Given the description of an element on the screen output the (x, y) to click on. 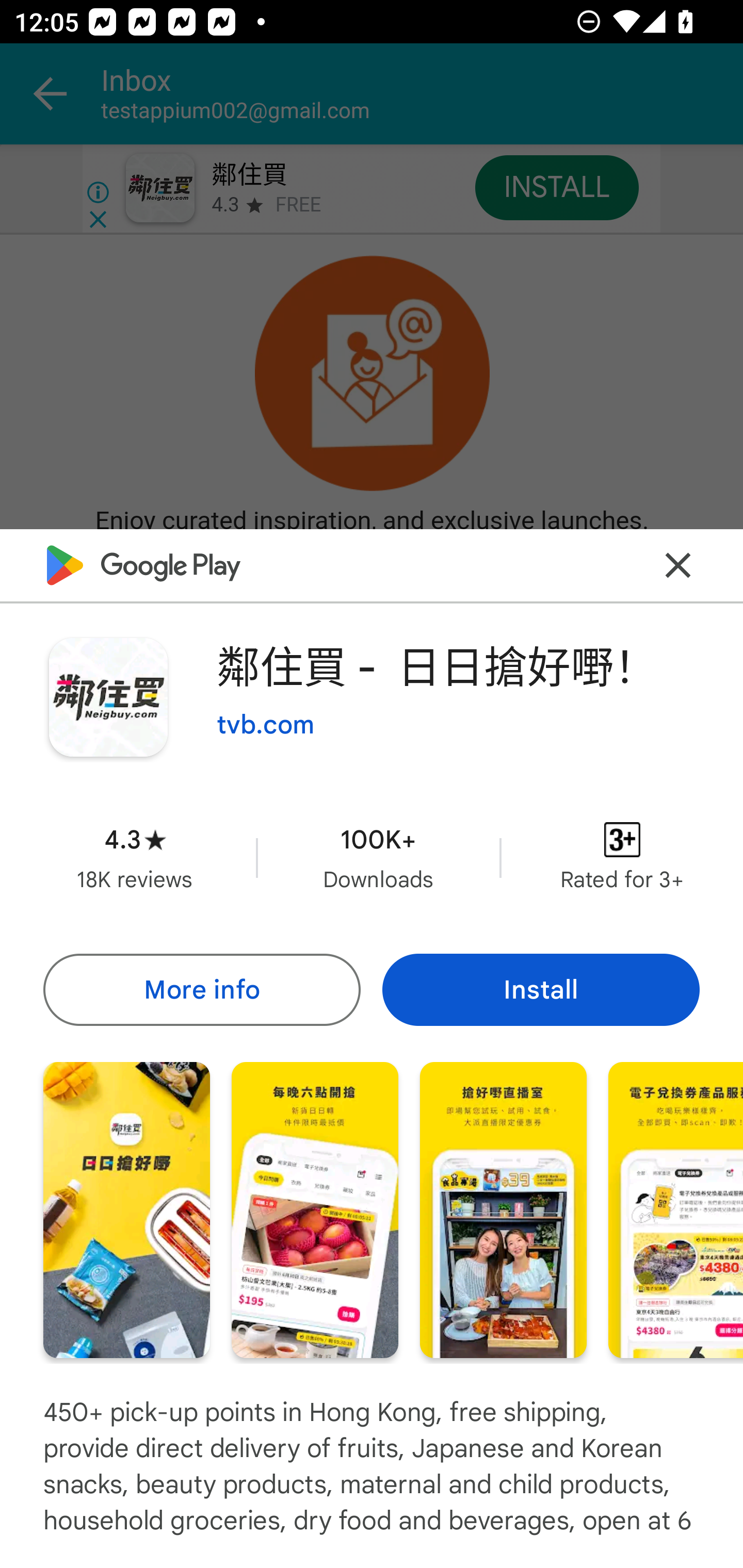
Close (677, 565)
Image of app or game icon for 鄰住買 -  日日搶好嘢！ (108, 696)
tvb.com (265, 724)
More info (201, 989)
Install (540, 989)
Screenshot "1" of "7" (126, 1209)
Screenshot "2" of "7" (314, 1209)
Screenshot "3" of "7" (502, 1209)
Screenshot "4" of "7" (675, 1209)
